Given the description of an element on the screen output the (x, y) to click on. 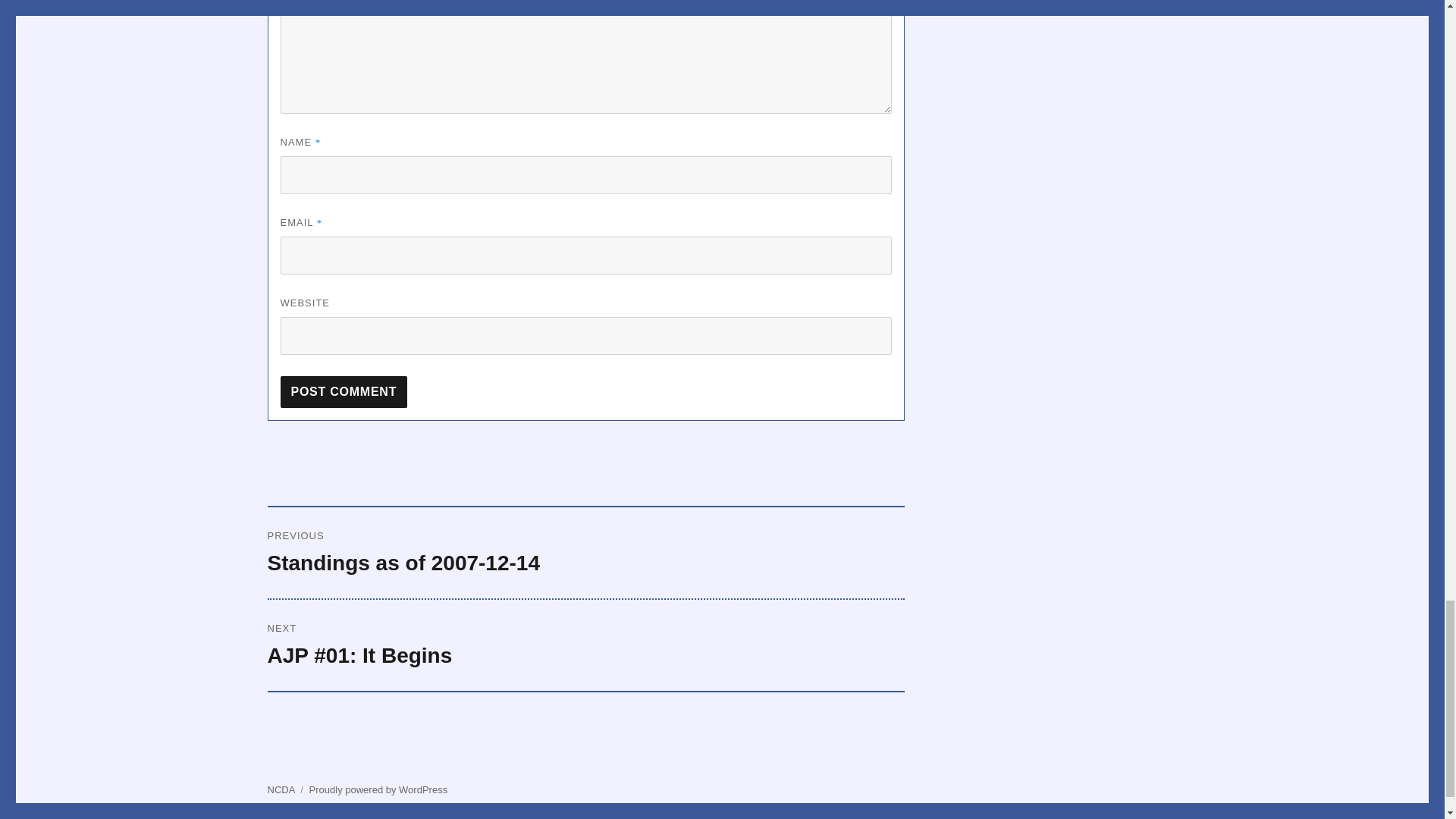
Post Comment (344, 391)
